Given the description of an element on the screen output the (x, y) to click on. 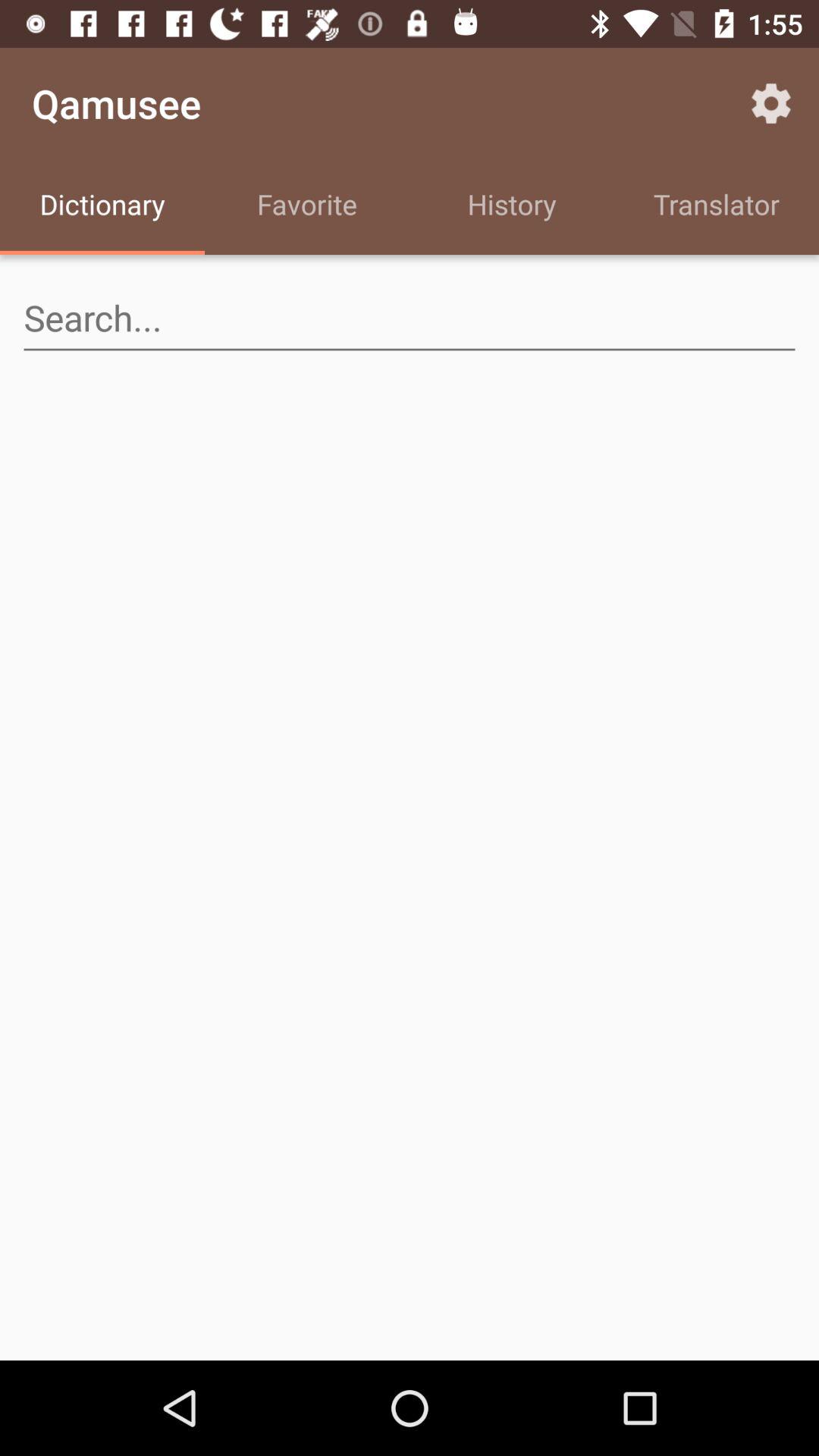
swipe until history (511, 206)
